Given the description of an element on the screen output the (x, y) to click on. 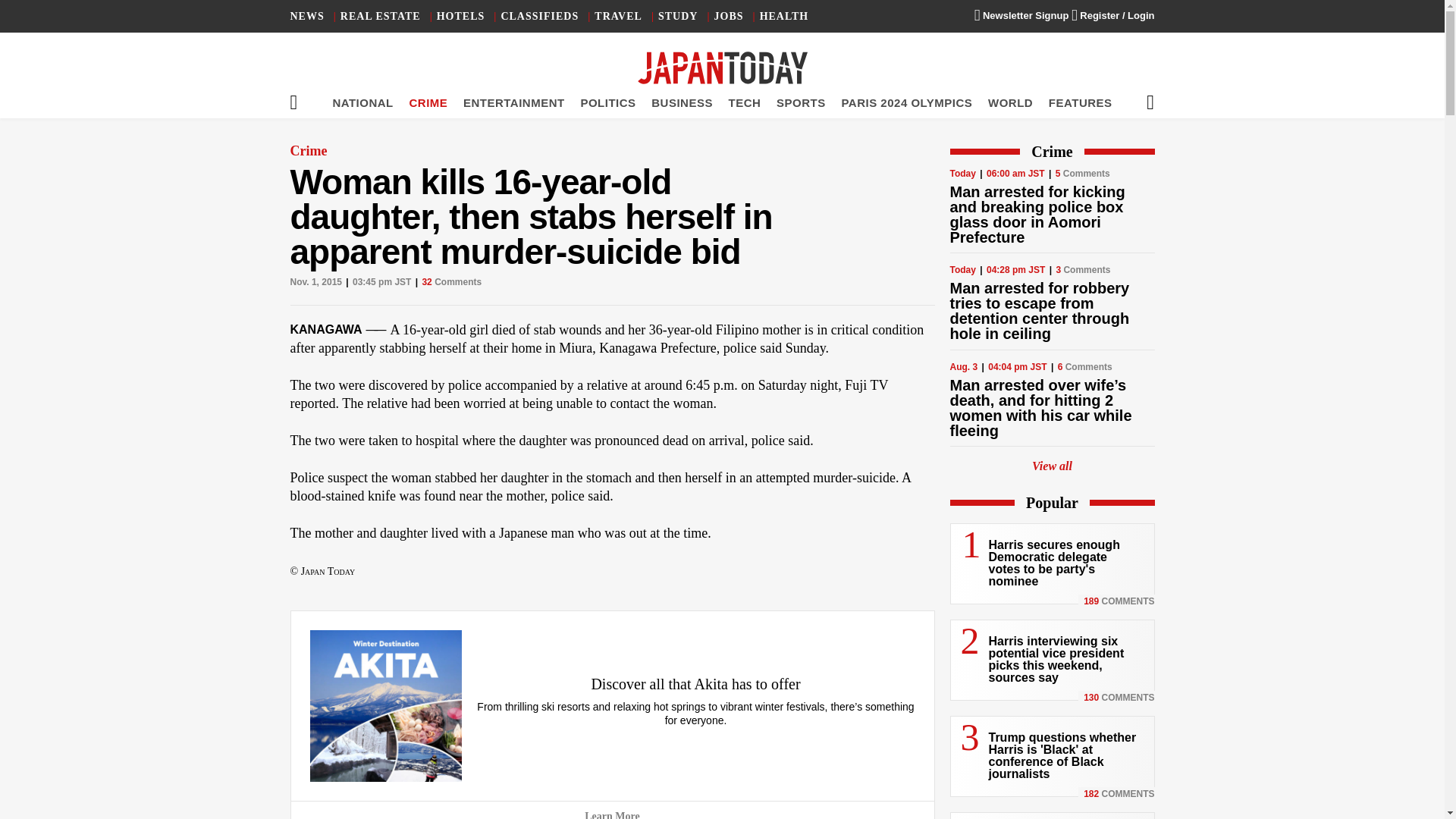
TECH (745, 102)
Japan Today (721, 67)
Newsletter Signup (1021, 15)
CLASSIFIEDS (539, 16)
Japan Today (721, 67)
BUSINESS (681, 102)
HEALTH (784, 16)
ENTERTAINMENT (513, 102)
TRAVEL (618, 16)
STUDY (677, 16)
NATIONAL (362, 102)
WORLD (1010, 102)
PARIS 2024 OLYMPICS (906, 102)
